Given the description of an element on the screen output the (x, y) to click on. 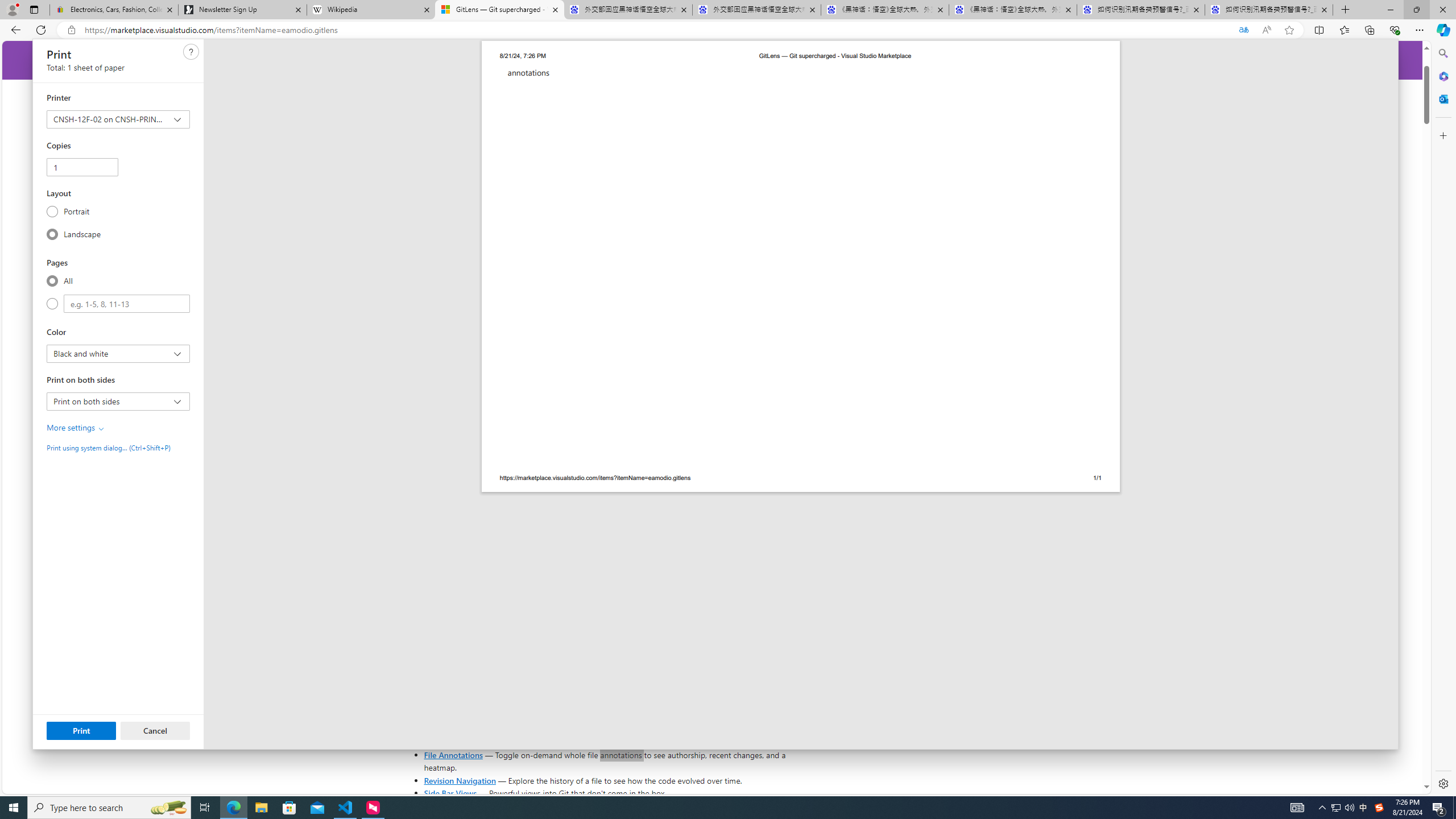
Print (81, 730)
Print on both sides Print on both sides (117, 401)
Portrait (52, 211)
All (52, 280)
Class: c0129 (190, 51)
Class: c0183 (101, 428)
More settings (76, 427)
Landscape (52, 233)
Color Black and white (117, 353)
Printer CNSH-12F-02 on CNSH-PRINT-01 (117, 119)
Copies (81, 167)
Need help (191, 51)
Custom (126, 303)
Cancel (154, 730)
